Given the description of an element on the screen output the (x, y) to click on. 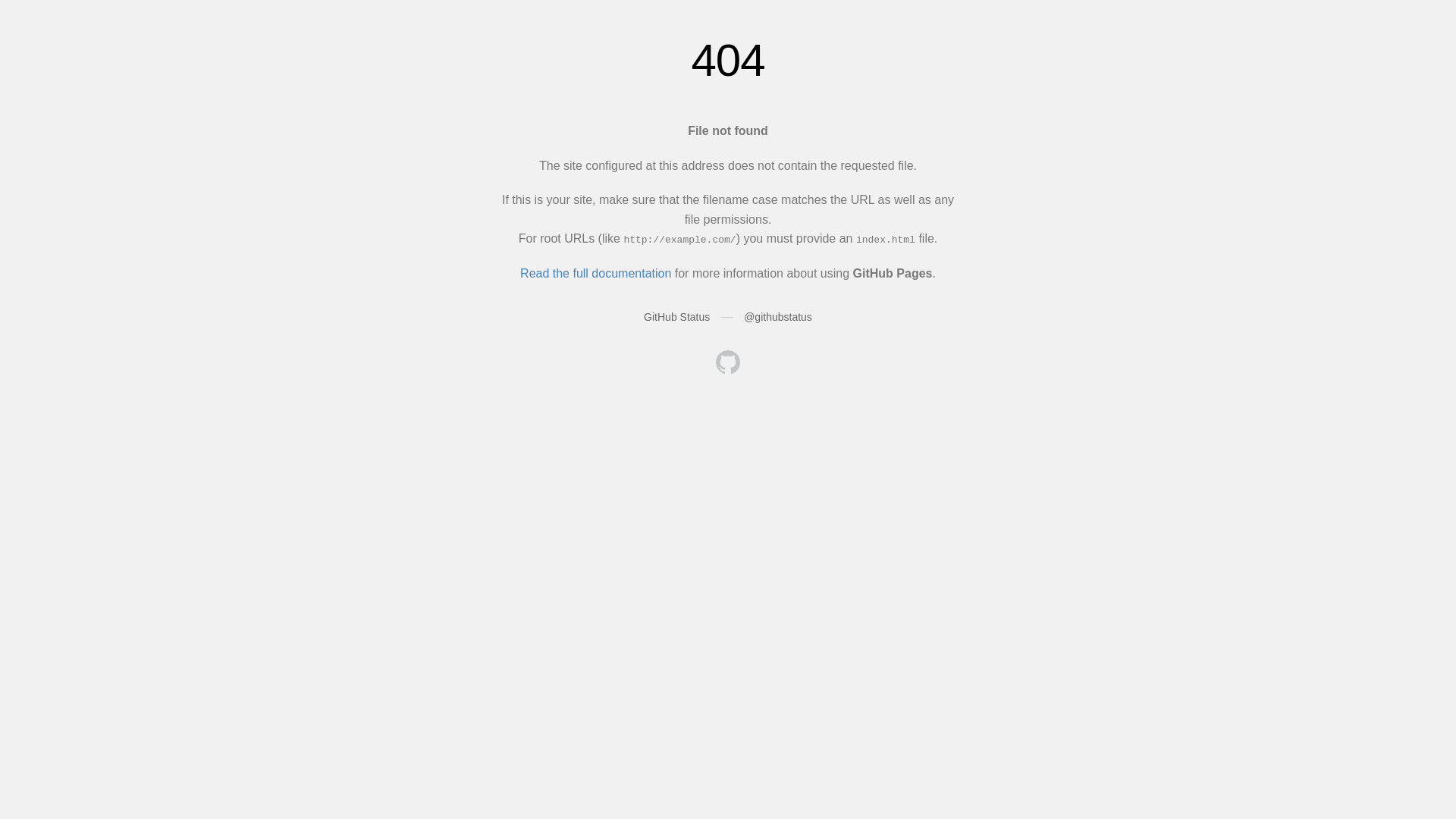
Read the full documentation Element type: text (595, 272)
@githubstatus Element type: text (777, 316)
GitHub Status Element type: text (676, 316)
